Given the description of an element on the screen output the (x, y) to click on. 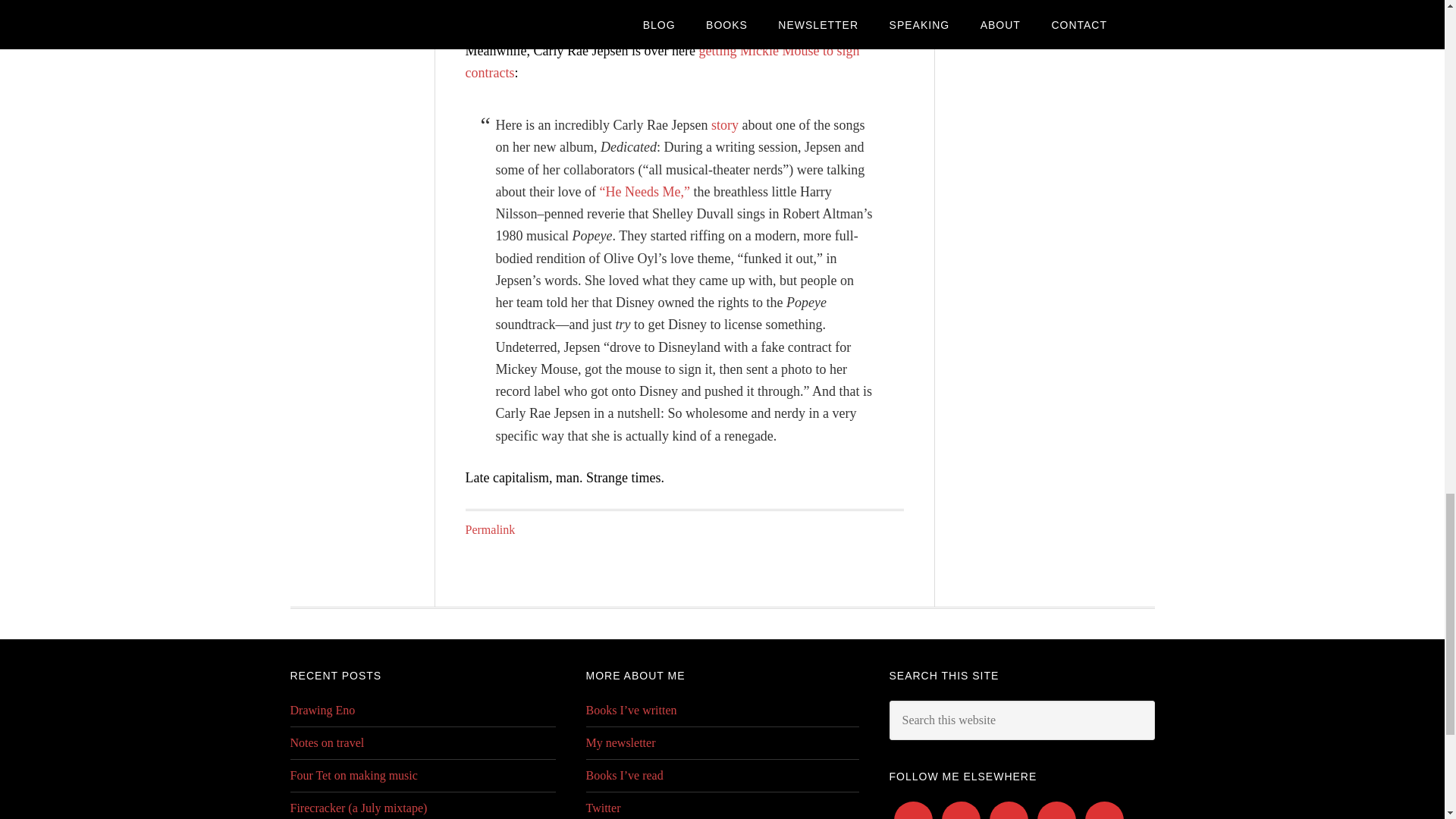
story (724, 124)
getting Mickie Mouse to sign contracts (662, 60)
Drawing Eno (322, 709)
Permalink (490, 529)
